Given the description of an element on the screen output the (x, y) to click on. 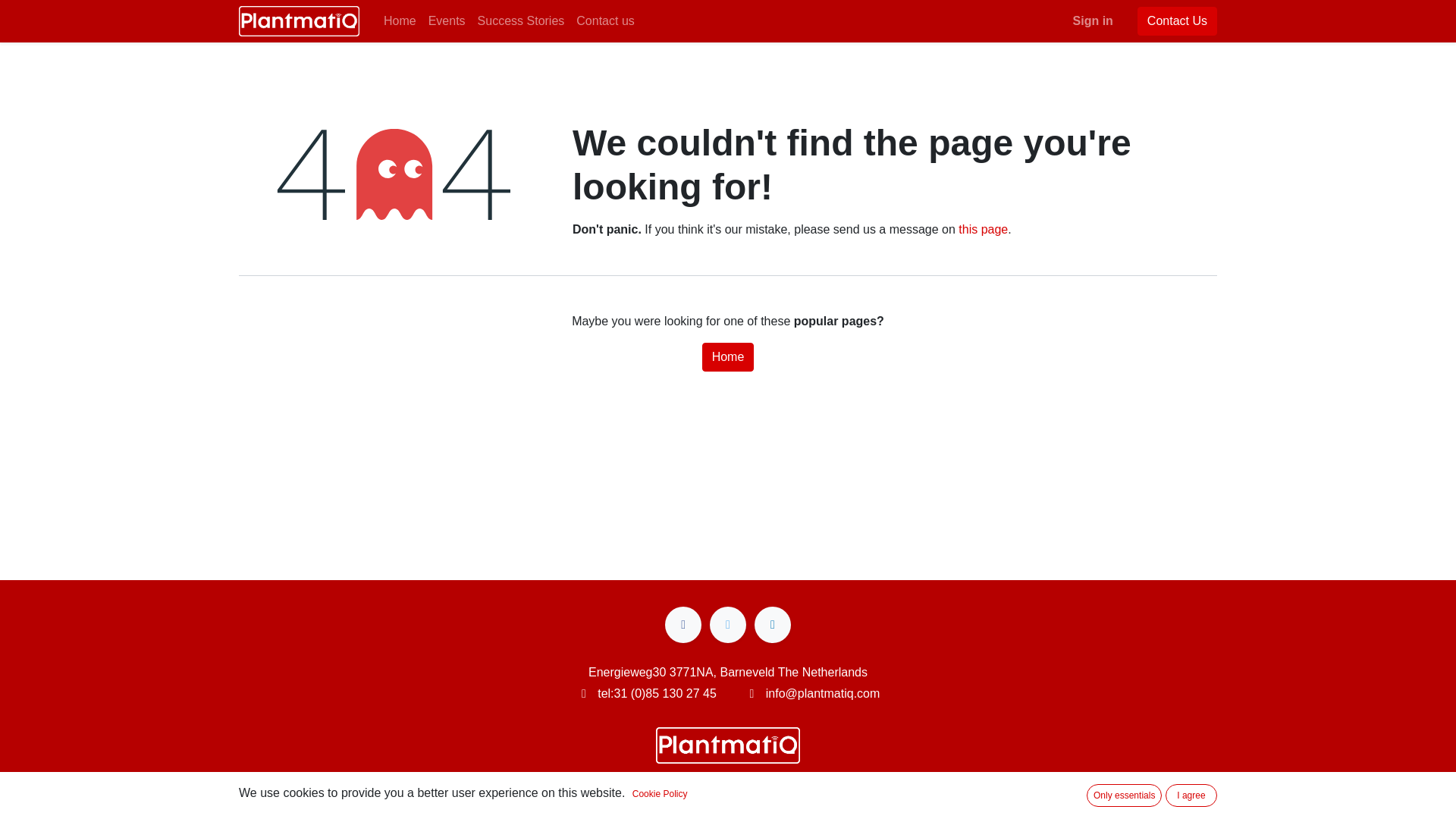
Home (399, 20)
this page (982, 228)
Contact Us (1177, 21)
Contact us (605, 20)
Sign in (1093, 20)
Cookie Policy (659, 793)
Success Stories (520, 20)
Only essentials (1123, 794)
PlantmatiQ (298, 20)
Home (727, 357)
Events (446, 20)
I agree (1191, 794)
